Given the description of an element on the screen output the (x, y) to click on. 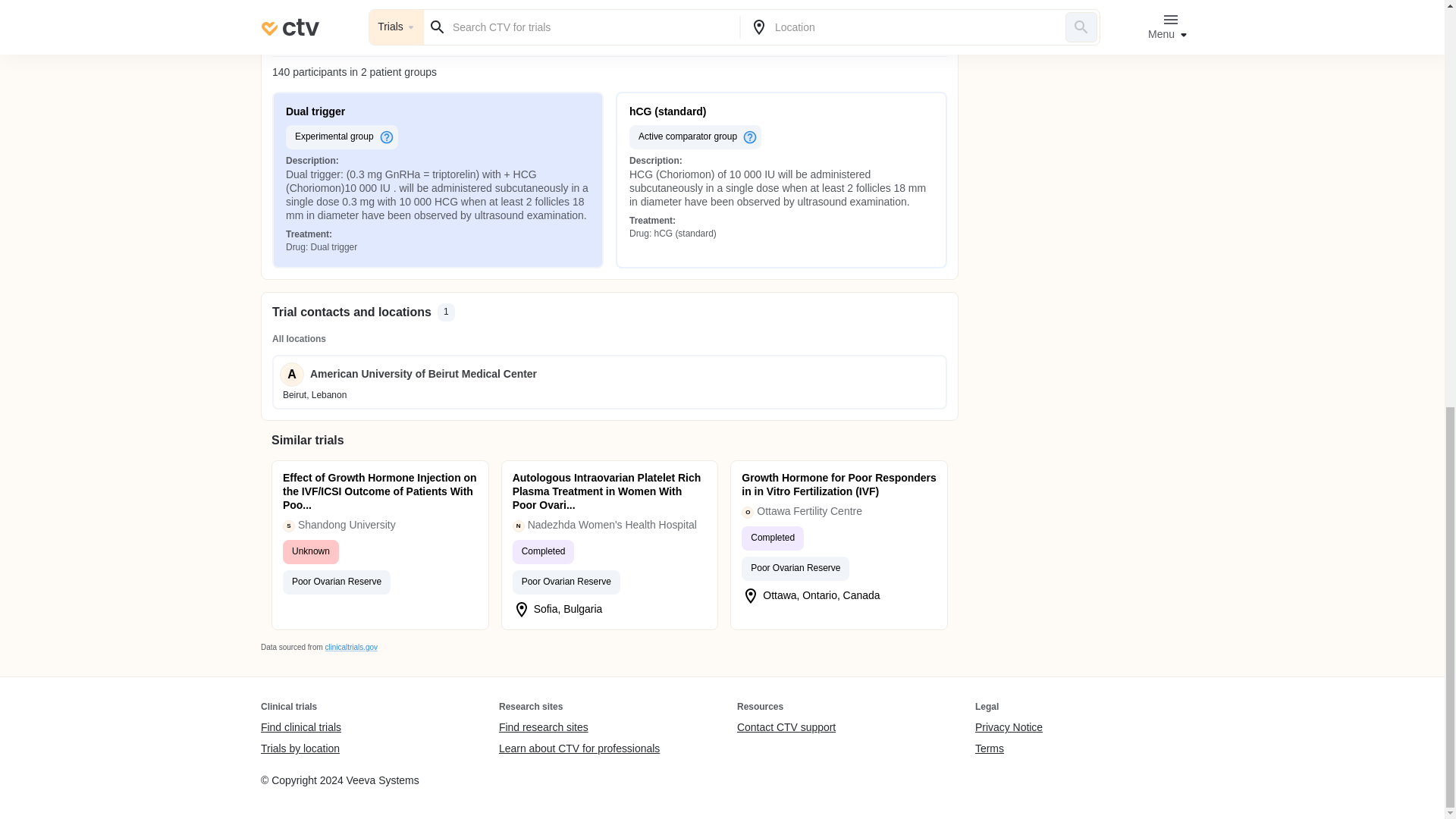
clinicaltrials.gov (350, 646)
Find clinical trials (300, 727)
Contact CTV support (785, 727)
Learn about CTV for professionals (579, 748)
Find research sites (579, 727)
Trials by location (300, 748)
Terms (1008, 748)
Privacy Notice (1008, 727)
